Given the description of an element on the screen output the (x, y) to click on. 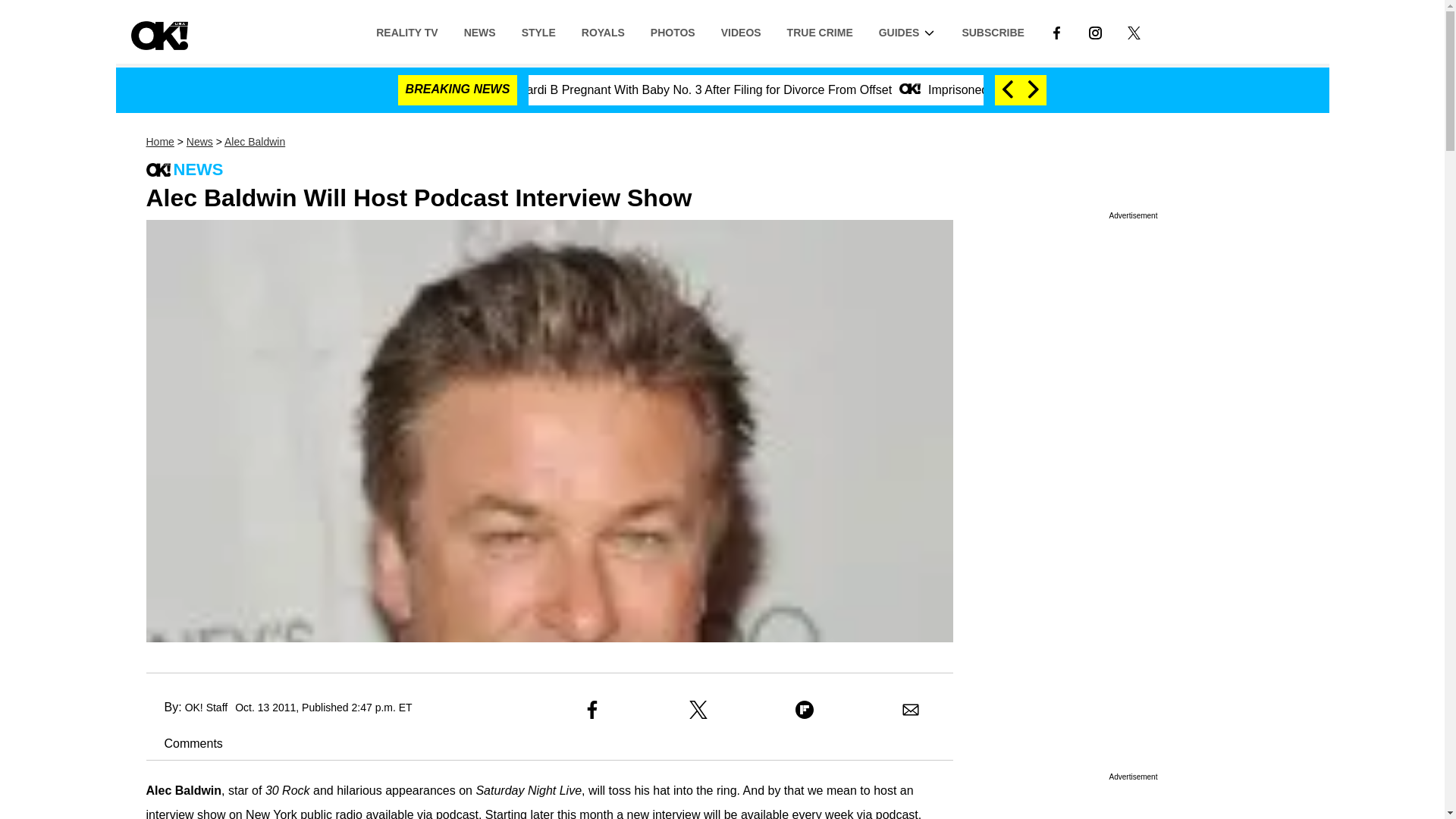
STYLE (538, 31)
Link to Facebook (1055, 31)
Share to Email (909, 710)
SUBSCRIBE (992, 31)
ROYALS (603, 31)
REALITY TV (405, 31)
LINK TO INSTAGRAM (1095, 31)
Share to X (697, 710)
LINK TO FACEBOOK (1055, 32)
TRUE CRIME (820, 31)
Comments (183, 743)
Home (159, 141)
LINK TO FACEBOOK (1055, 31)
Share to Facebook (590, 710)
